Given the description of an element on the screen output the (x, y) to click on. 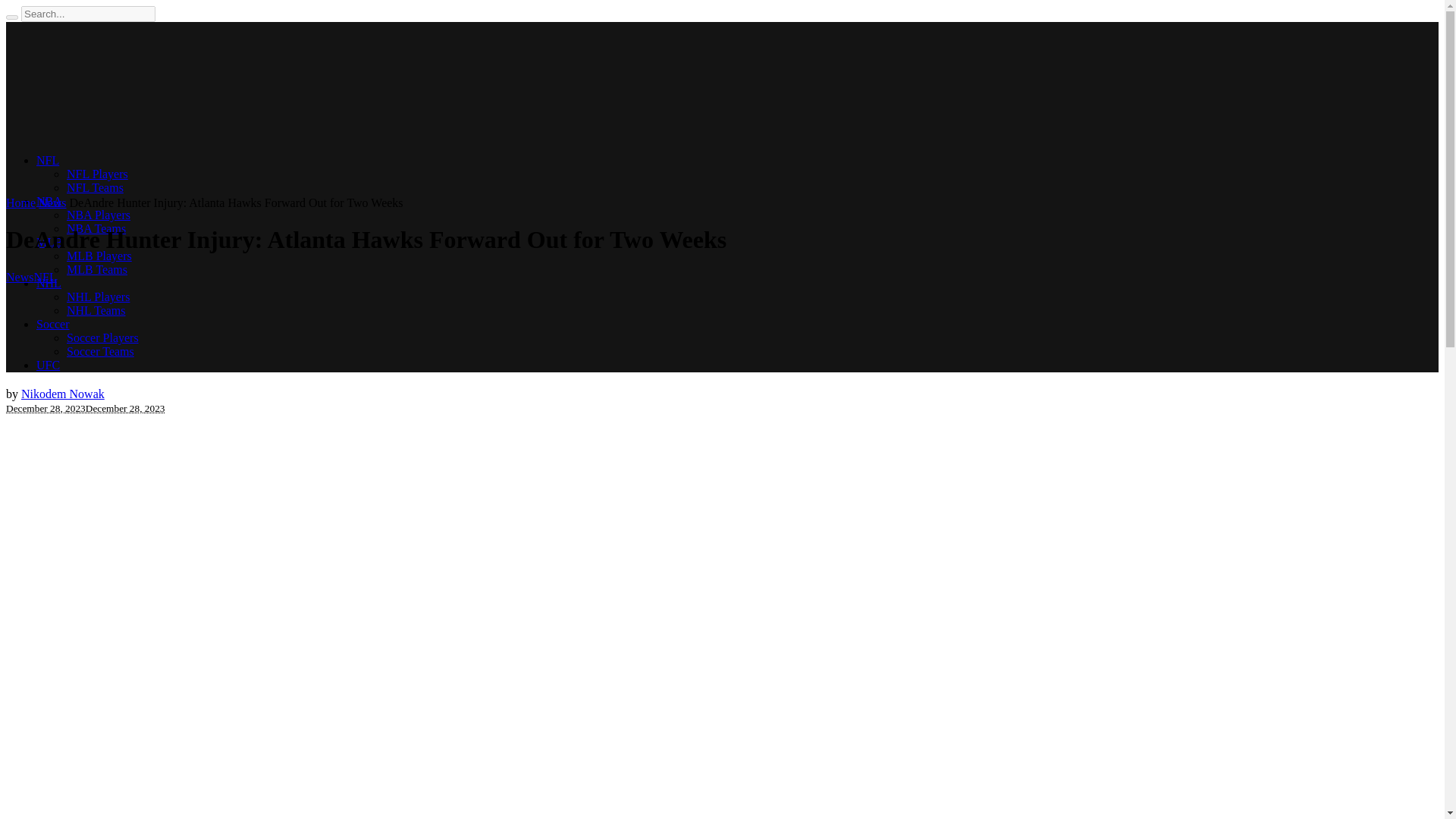
December 28, 2023 (125, 408)
MLB Players (99, 255)
Posts by Nikodem Nowak (62, 393)
News (52, 202)
NBA Teams (95, 228)
NBA (49, 201)
Soccer (52, 323)
MLB (49, 241)
MLB Teams (97, 269)
